Given the description of an element on the screen output the (x, y) to click on. 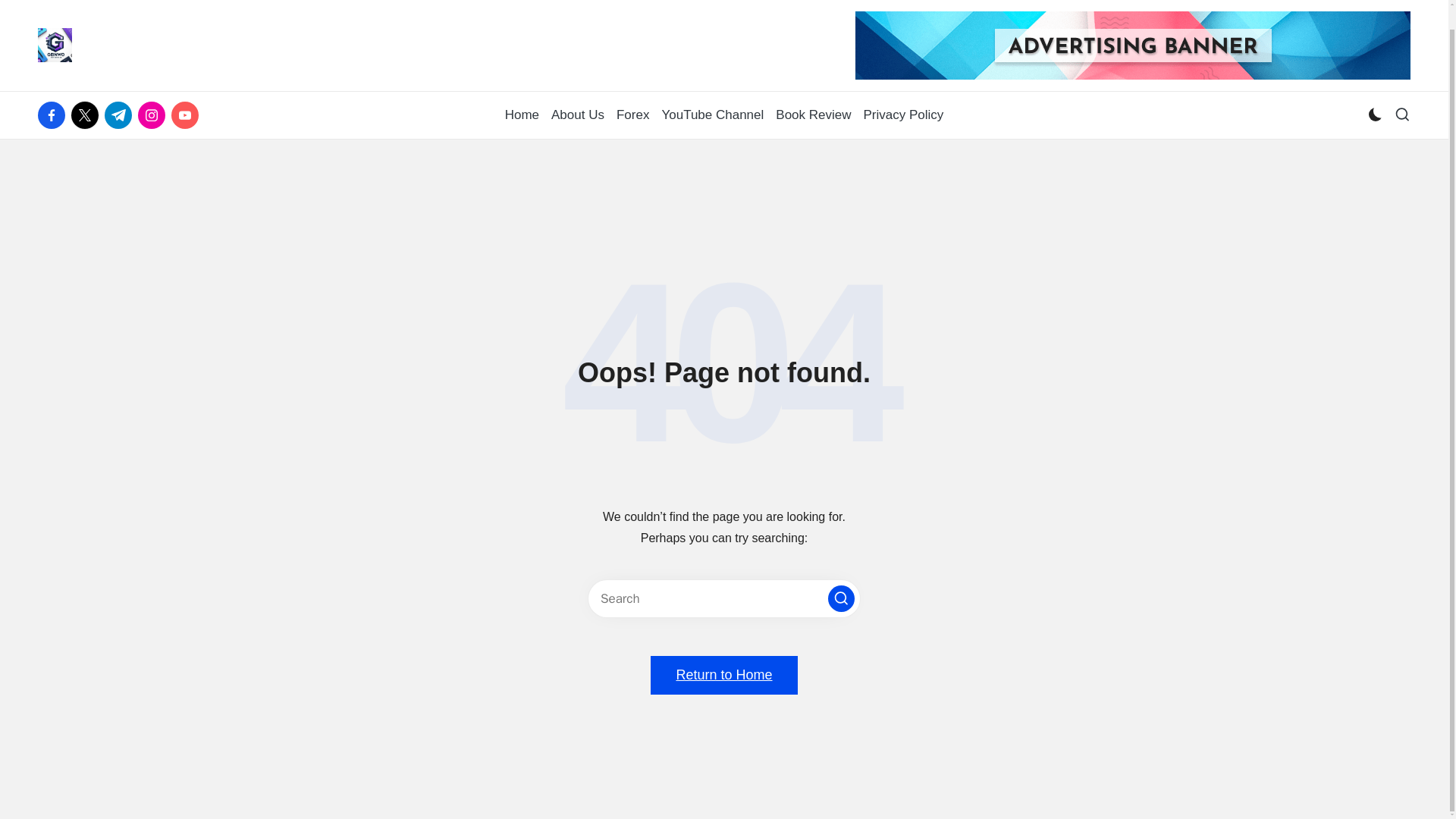
twitter.com (87, 114)
instagram.com (154, 114)
About Us (577, 115)
Return to Home (723, 675)
facebook.com (54, 114)
t.me (121, 114)
Privacy Policy (903, 115)
Book Review (813, 115)
youtube.com (188, 114)
YouTube Channel (711, 115)
